Given the description of an element on the screen output the (x, y) to click on. 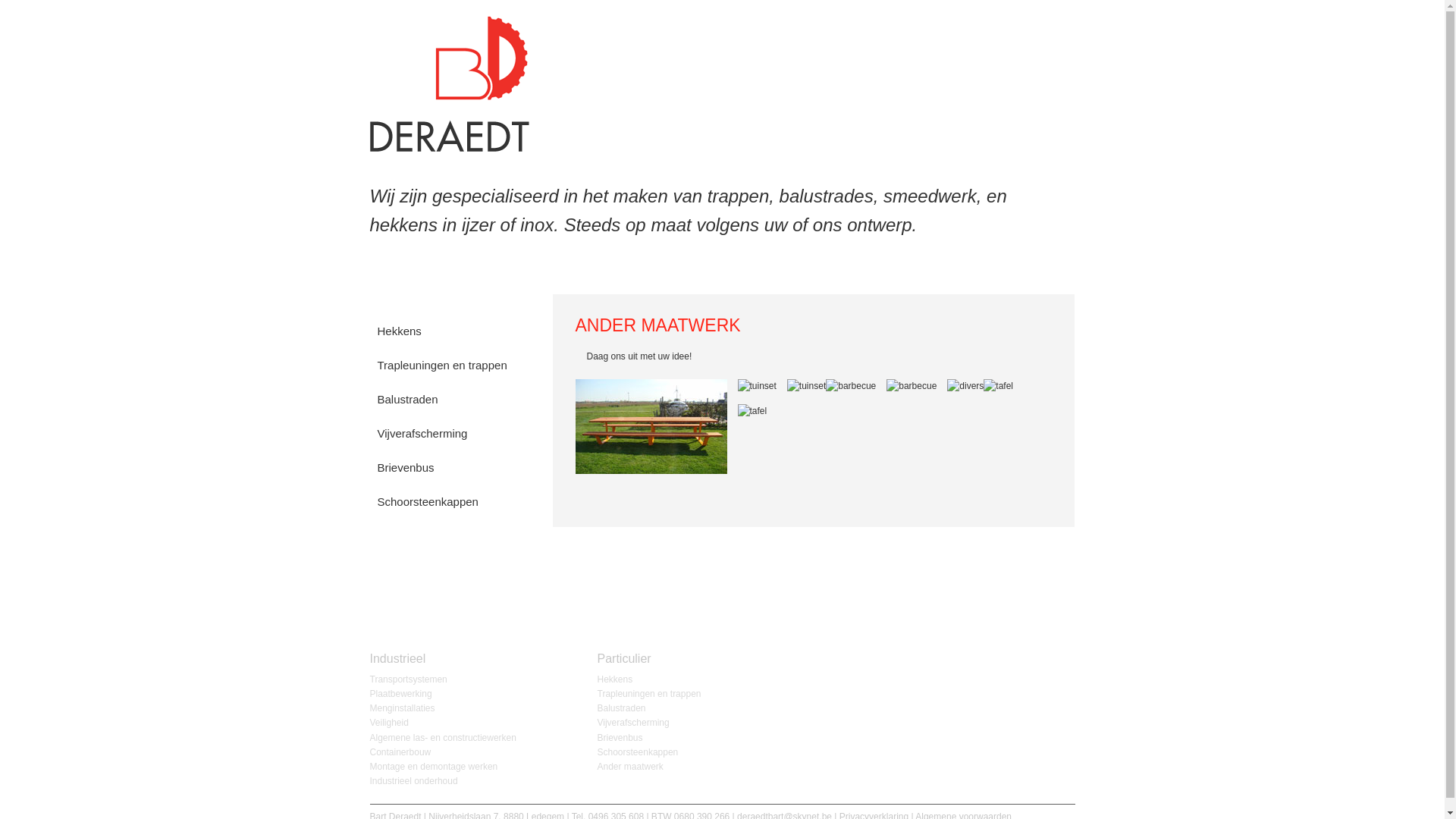
Hekkens Element type: text (615, 679)
Plaatbewerking Element type: text (401, 693)
Industrieel onderhoud Element type: text (414, 780)
HOME Element type: text (836, 68)
Balustraden Element type: text (621, 707)
Balustraden Element type: text (449, 399)
PARTICULIER Element type: text (1033, 68)
Vijverafscherming Element type: text (633, 722)
Brievenbus Element type: text (449, 467)
Hekkens Element type: text (449, 331)
Schoorsteenkappen Element type: text (637, 751)
Menginstallaties Element type: text (402, 707)
INDUSTRIEEL Element type: text (934, 68)
Trapleuningen en trappen Element type: text (449, 365)
Montage en demontage werken Element type: text (434, 766)
Ander maatwerk Element type: text (449, 535)
Ander maatwerk Element type: text (630, 766)
Schoorsteenkappen Element type: text (449, 501)
Containerbouw Element type: text (400, 751)
Trapleuningen en trappen Element type: text (649, 693)
Veiligheid Element type: text (389, 722)
Bart Deraedt Element type: hover (449, 148)
Vijverafscherming Element type: text (449, 433)
Transportsystemen Element type: text (408, 679)
Brievenbus Element type: text (620, 737)
Algemene las- en constructiewerken Element type: text (443, 737)
